Given the description of an element on the screen output the (x, y) to click on. 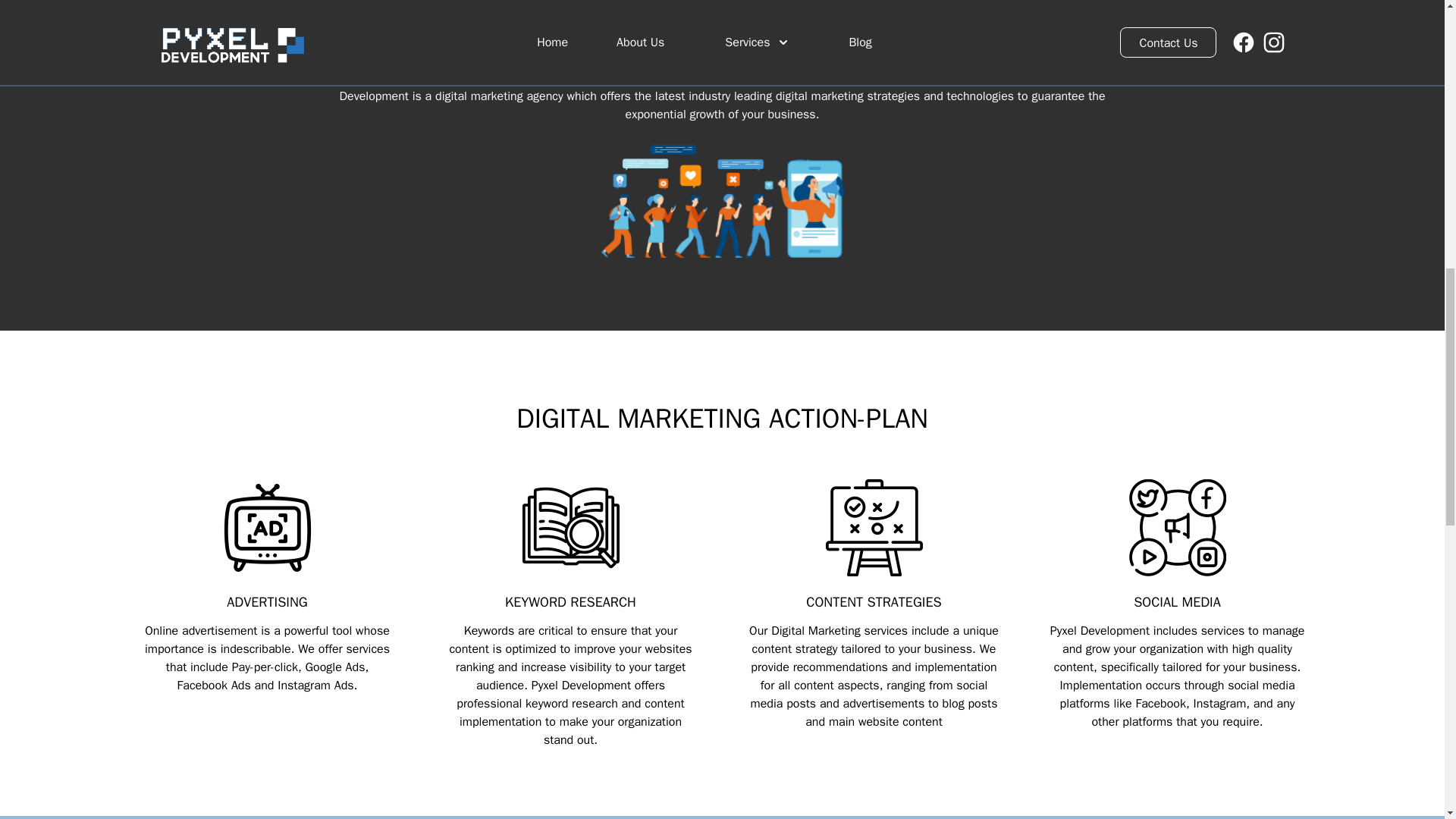
Dallas digital marketing strategy (873, 527)
Dallas digital marketing keywords (569, 527)
Dallas digital marketing advertisements (266, 527)
Dallas Digital Marketing company (721, 200)
Dallas digital marketing social media (1176, 527)
